Given the description of an element on the screen output the (x, y) to click on. 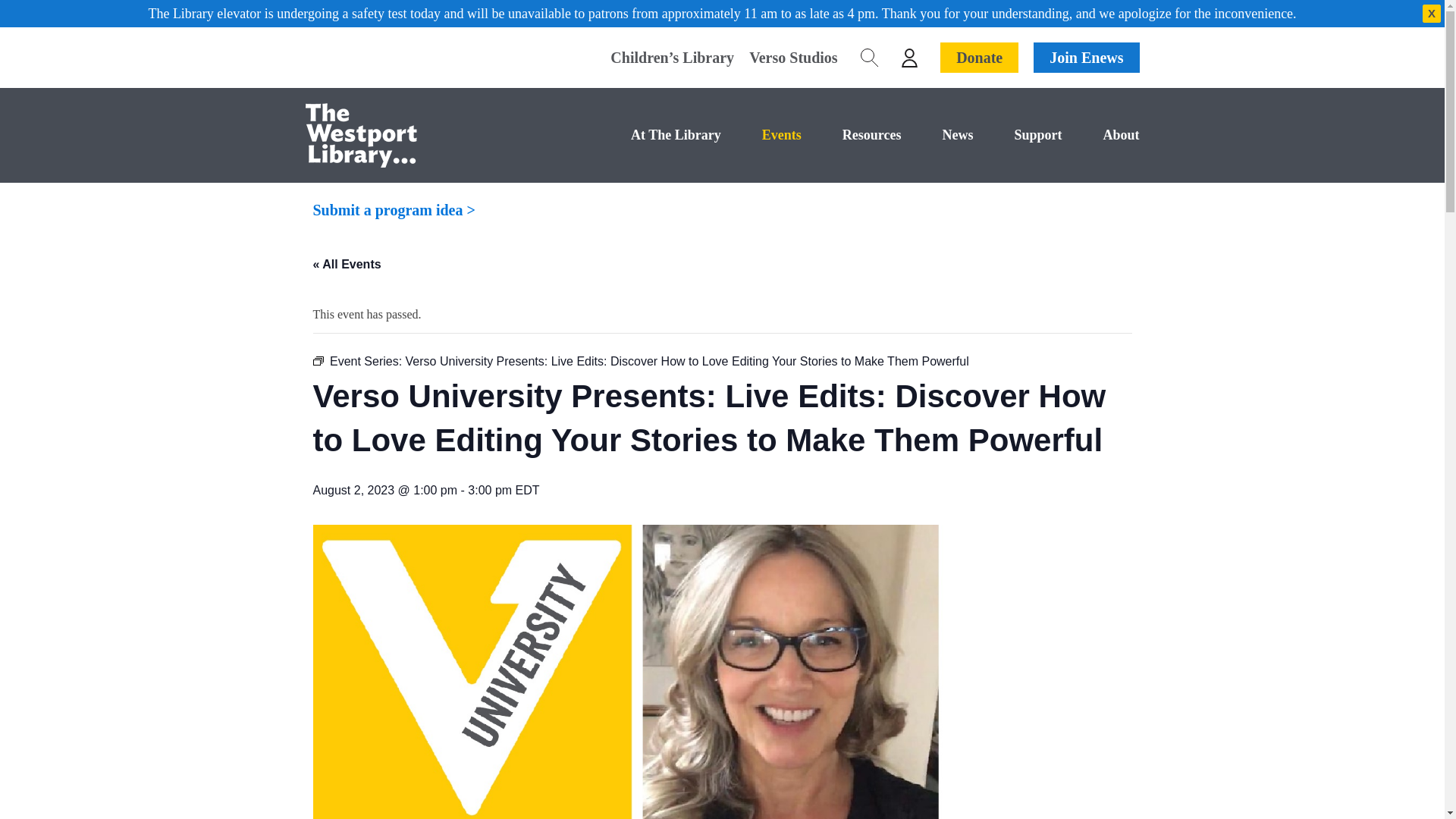
Join Enews (1085, 57)
News (936, 134)
Events (761, 134)
At The Library (654, 134)
Resources (851, 134)
Support (1016, 134)
Verso Studios (785, 57)
Event Series (318, 360)
Donate (978, 57)
